Given the description of an element on the screen output the (x, y) to click on. 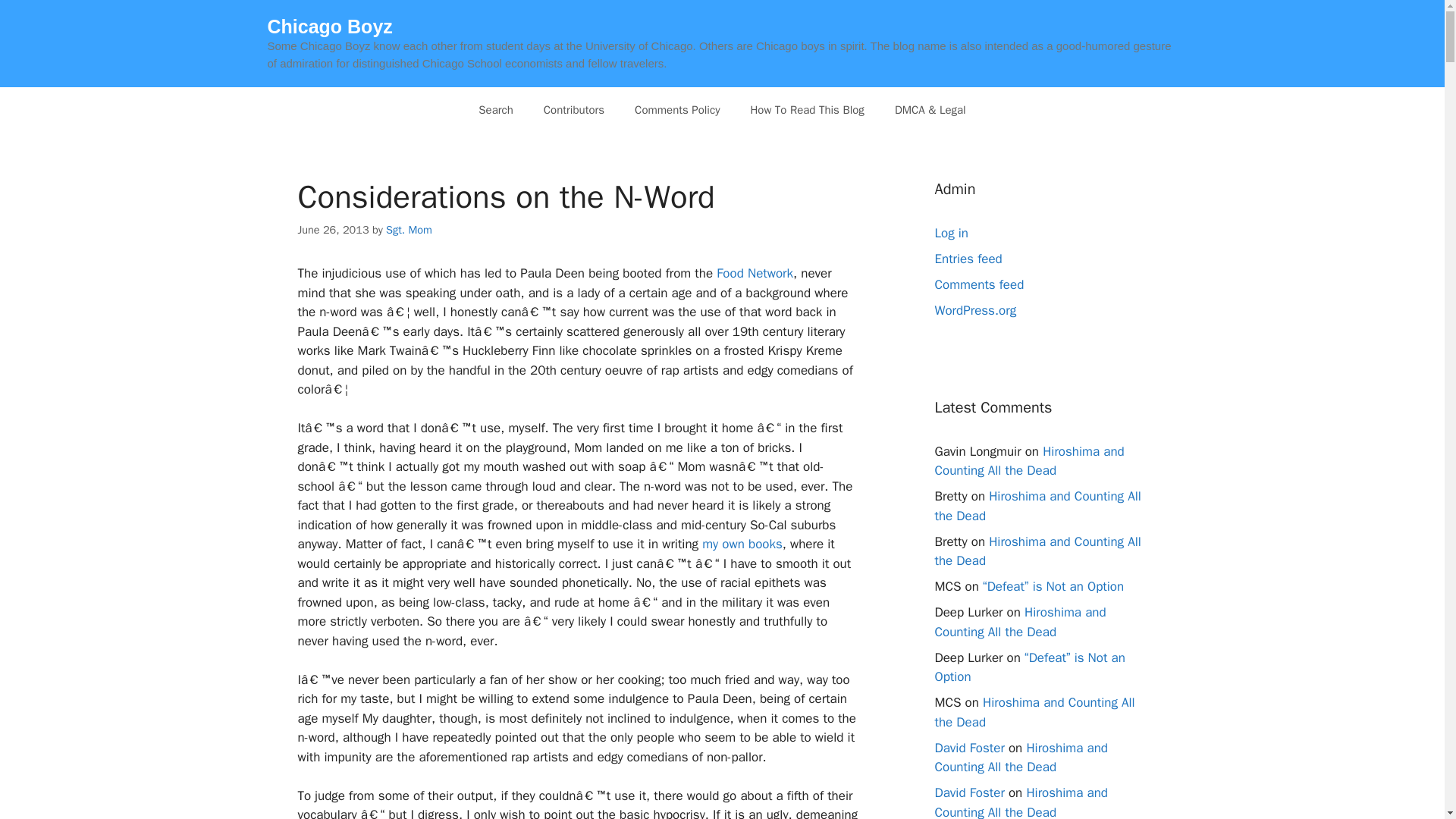
View all posts by Sgt. Mom (408, 229)
Sgt. Mom (408, 229)
How To Read This Blog (807, 109)
my own books (742, 544)
Food Network (754, 273)
Comments Policy (677, 109)
Search (495, 109)
Chicago Boyz (328, 25)
Contributors (574, 109)
